Given the description of an element on the screen output the (x, y) to click on. 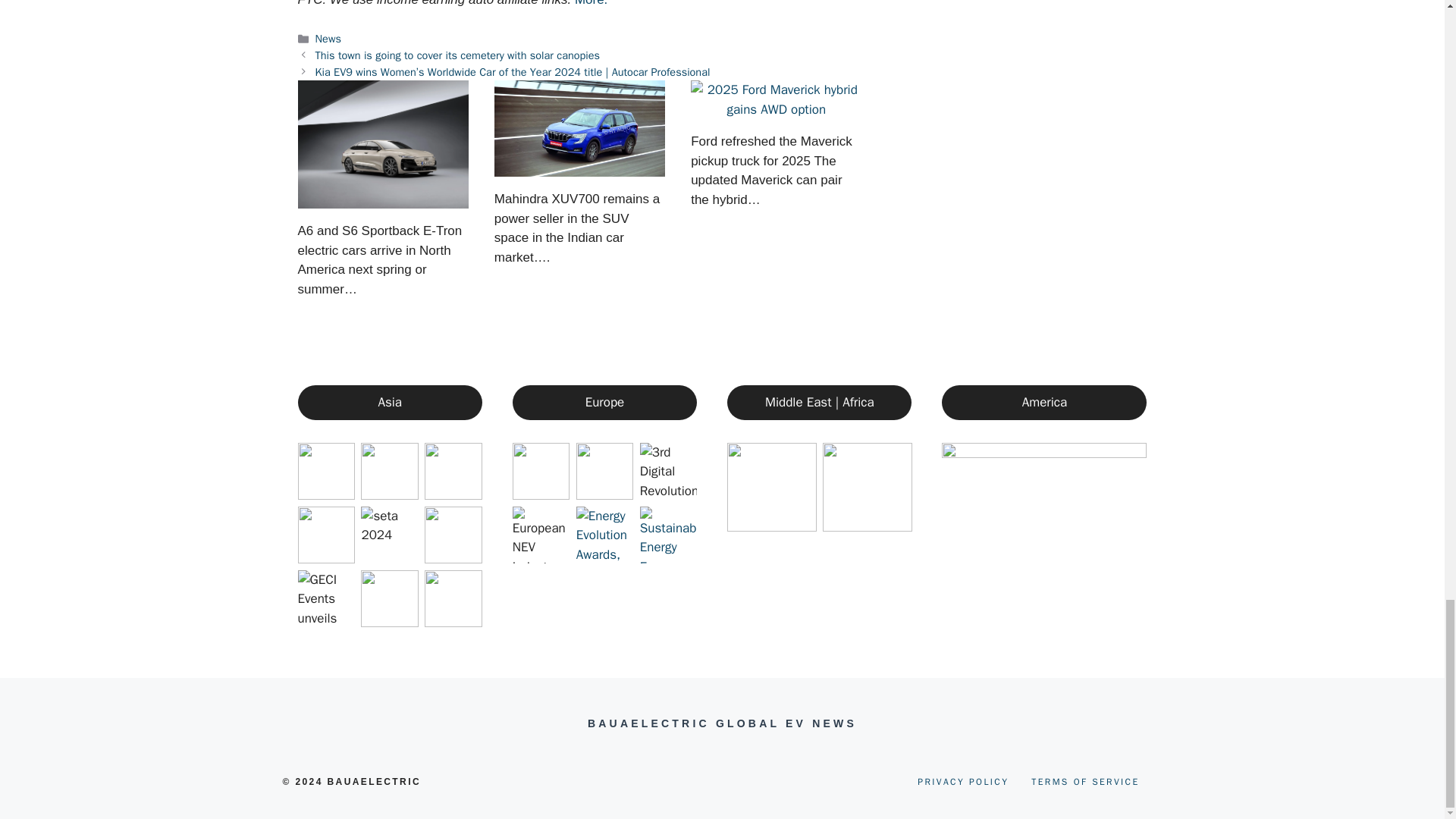
2025 Ford Maverick hybrid gains AWD option (775, 99)
Audi A6 Sportback E-Tron evolves the electric car (382, 198)
Audi A6 Sportback E-Tron evolves the electric car (382, 144)
2025 Ford Maverick hybrid gains AWD option (775, 109)
